Given the description of an element on the screen output the (x, y) to click on. 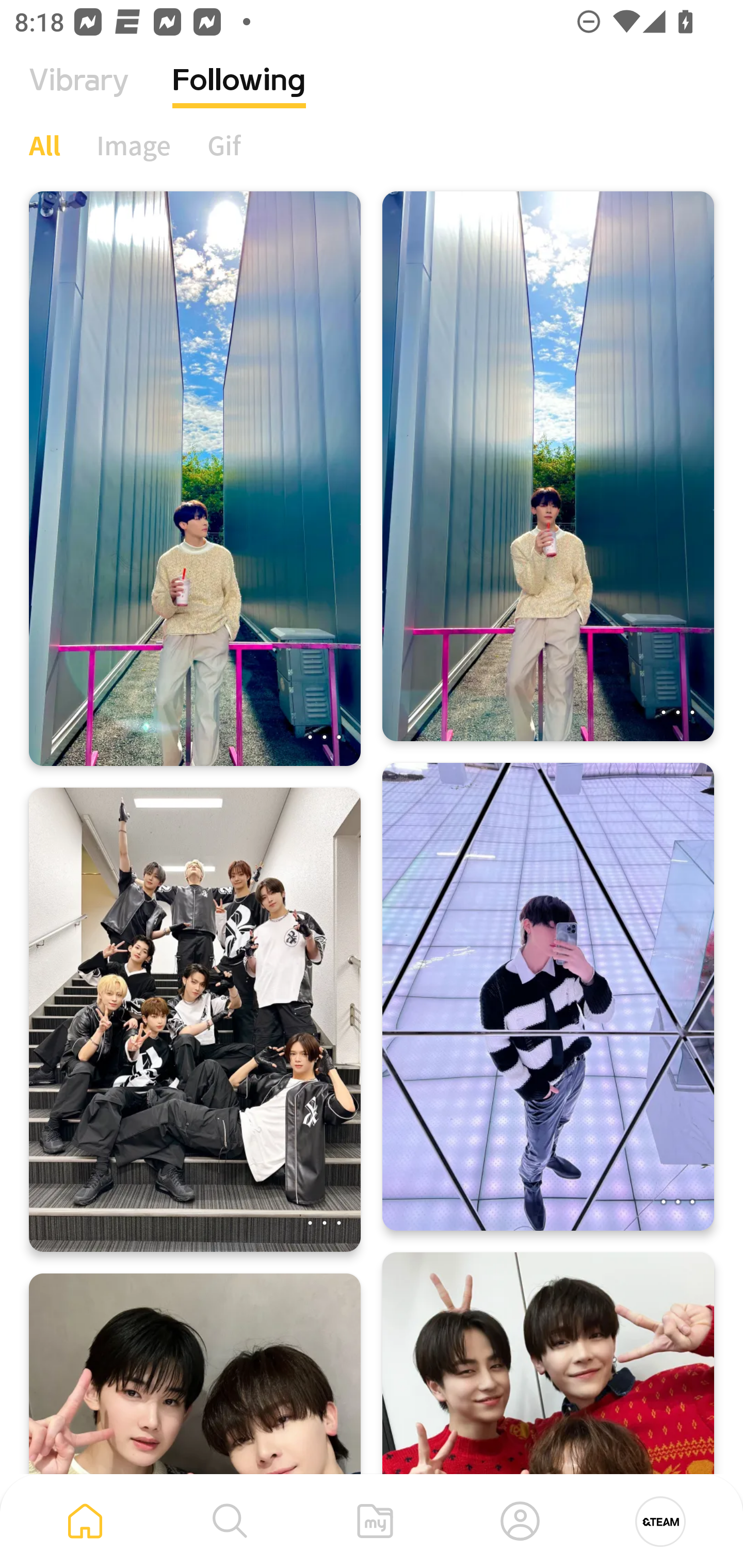
Vibrary (78, 95)
Following (239, 95)
All (44, 145)
Image (133, 145)
Gif (223, 145)
